Given the description of an element on the screen output the (x, y) to click on. 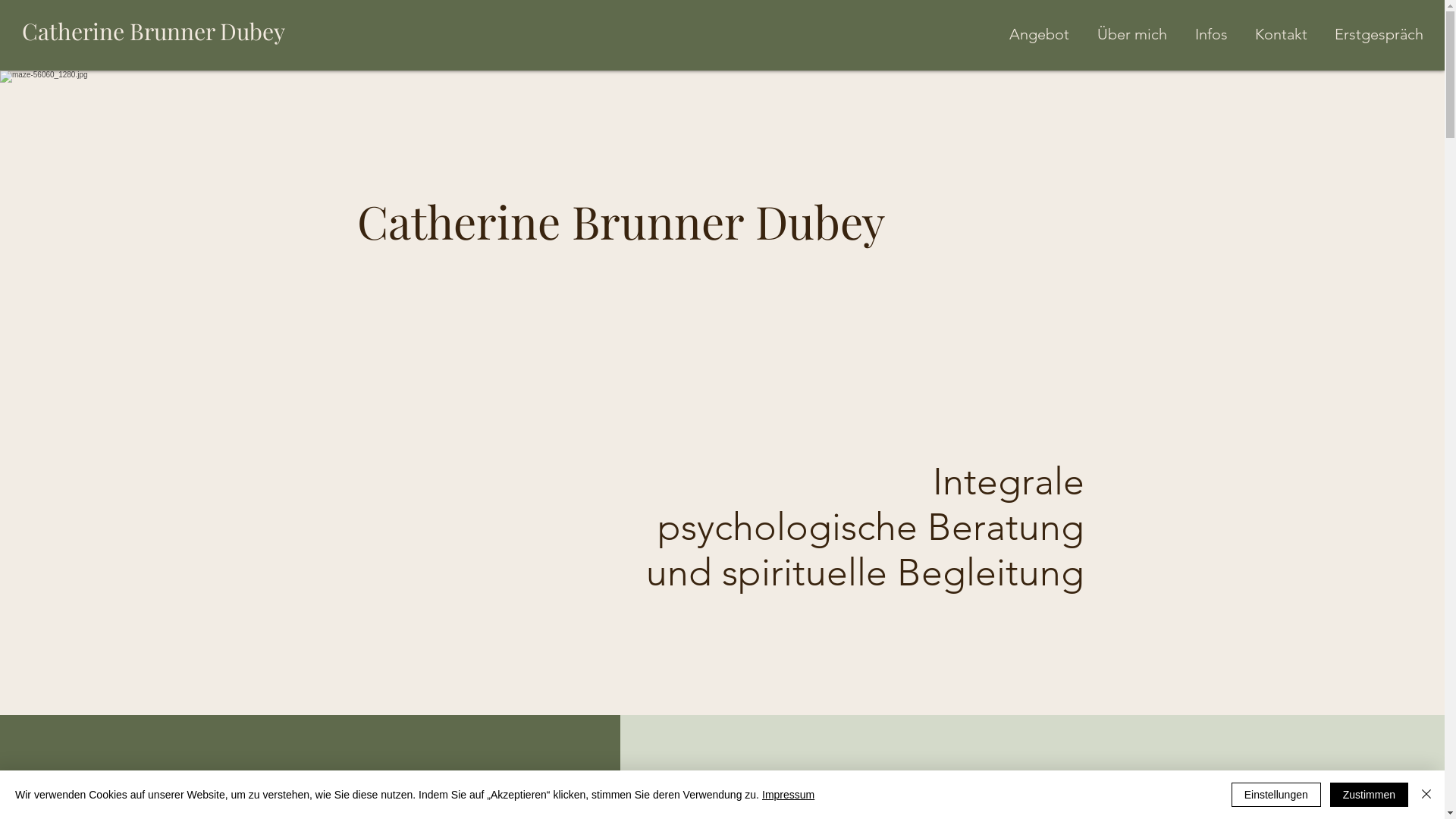
Impressum Element type: text (788, 794)
Catherine Brunner Dubey Element type: text (153, 30)
Einstellungen Element type: text (1276, 794)
Angebot Element type: text (1041, 33)
Zustimmen Element type: text (1369, 794)
Infos Element type: text (1213, 33)
Kontakt Element type: text (1283, 33)
